Given the description of an element on the screen output the (x, y) to click on. 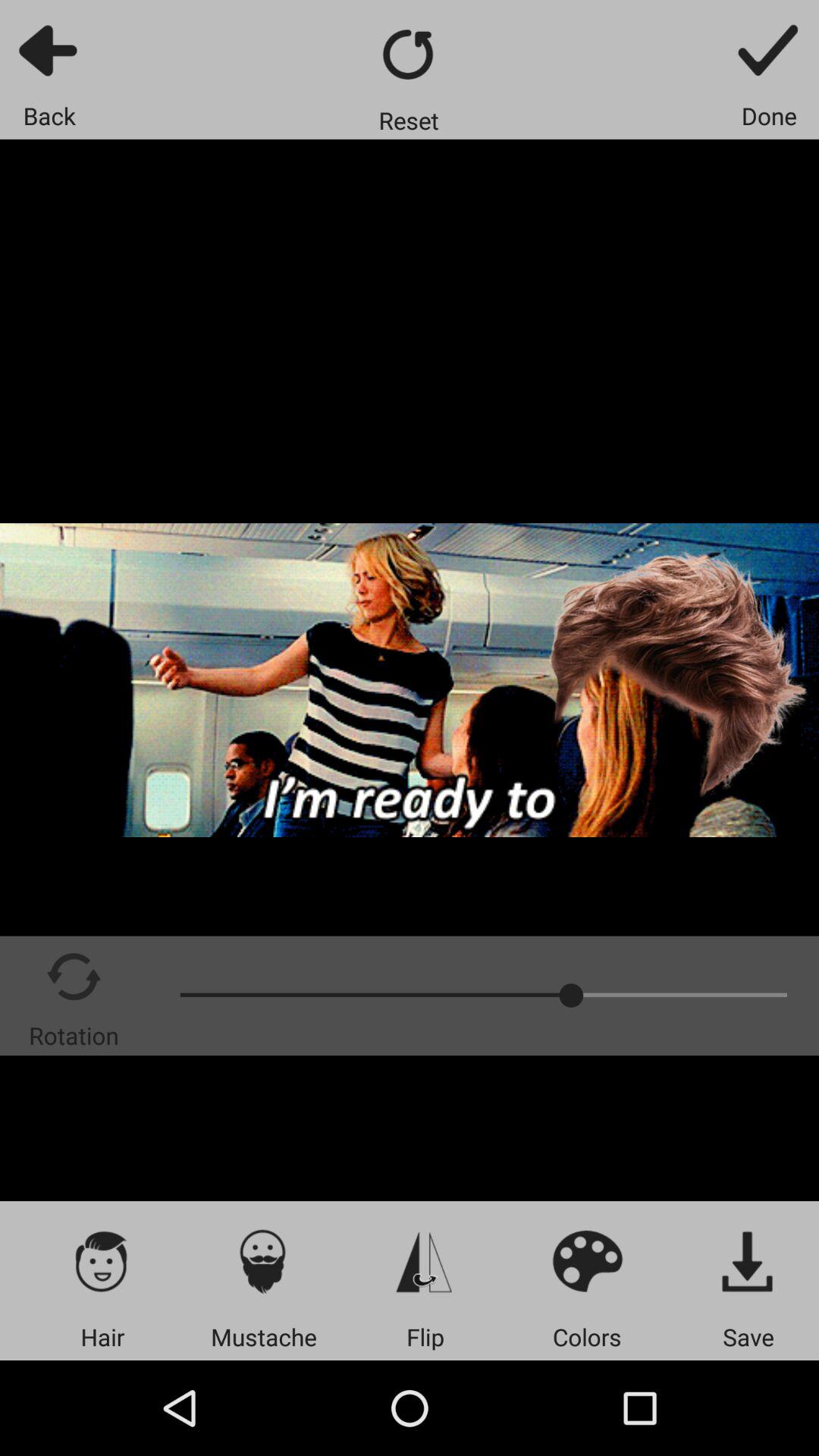
tap icon above save icon (748, 1260)
